Given the description of an element on the screen output the (x, y) to click on. 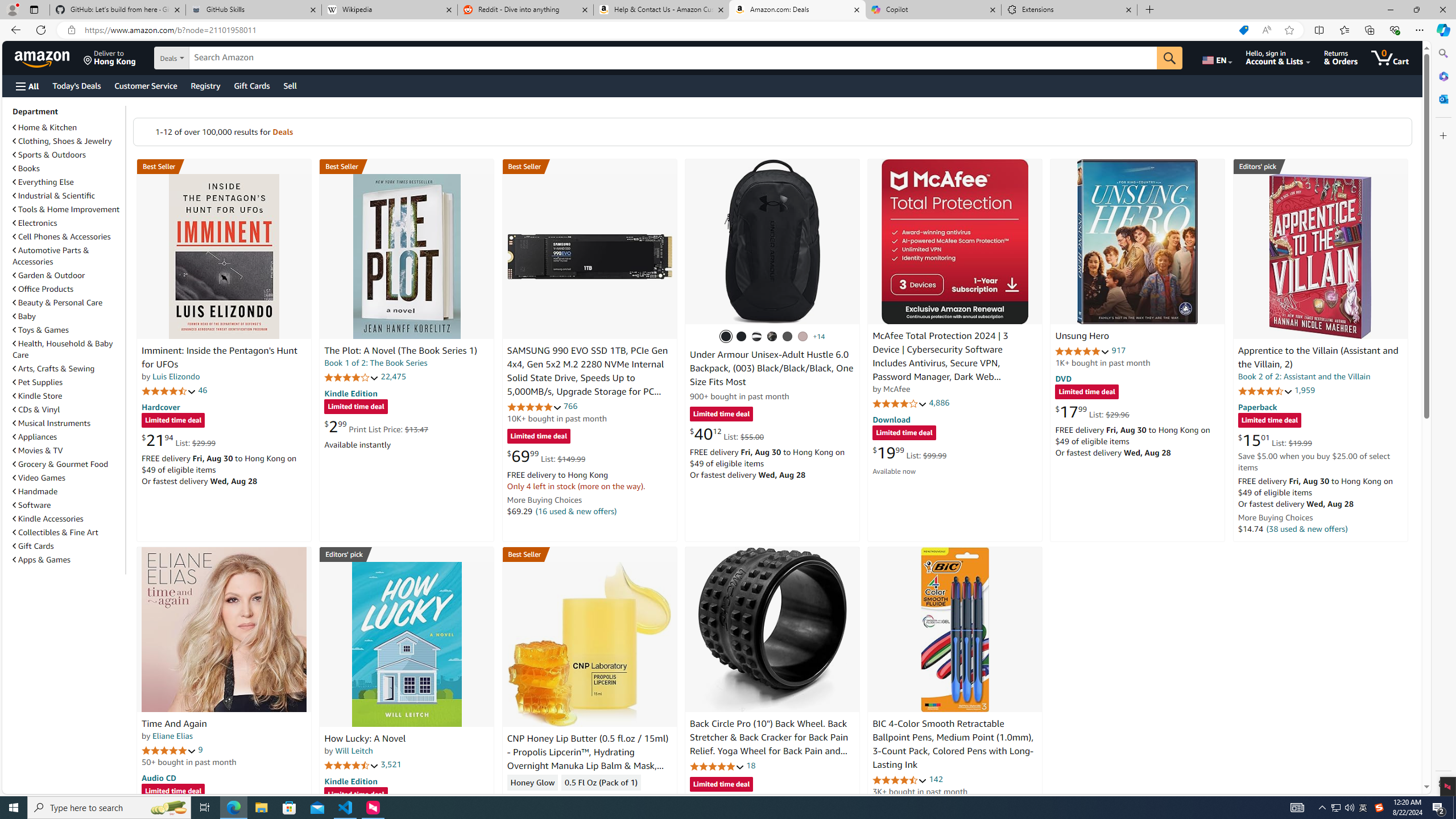
Hello, sign in Account & Lists (1278, 57)
4.1 out of 5 stars (899, 403)
Amazon (43, 57)
Time And Again (173, 723)
Arts, Crafts & Sewing (67, 368)
Audio CD (158, 777)
Apprentice to the Villain (Assistant and the Villain, 2) (1318, 358)
4.7 out of 5 stars (168, 390)
5.0 out of 5 stars (168, 750)
Home & Kitchen (45, 127)
